Given the description of an element on the screen output the (x, y) to click on. 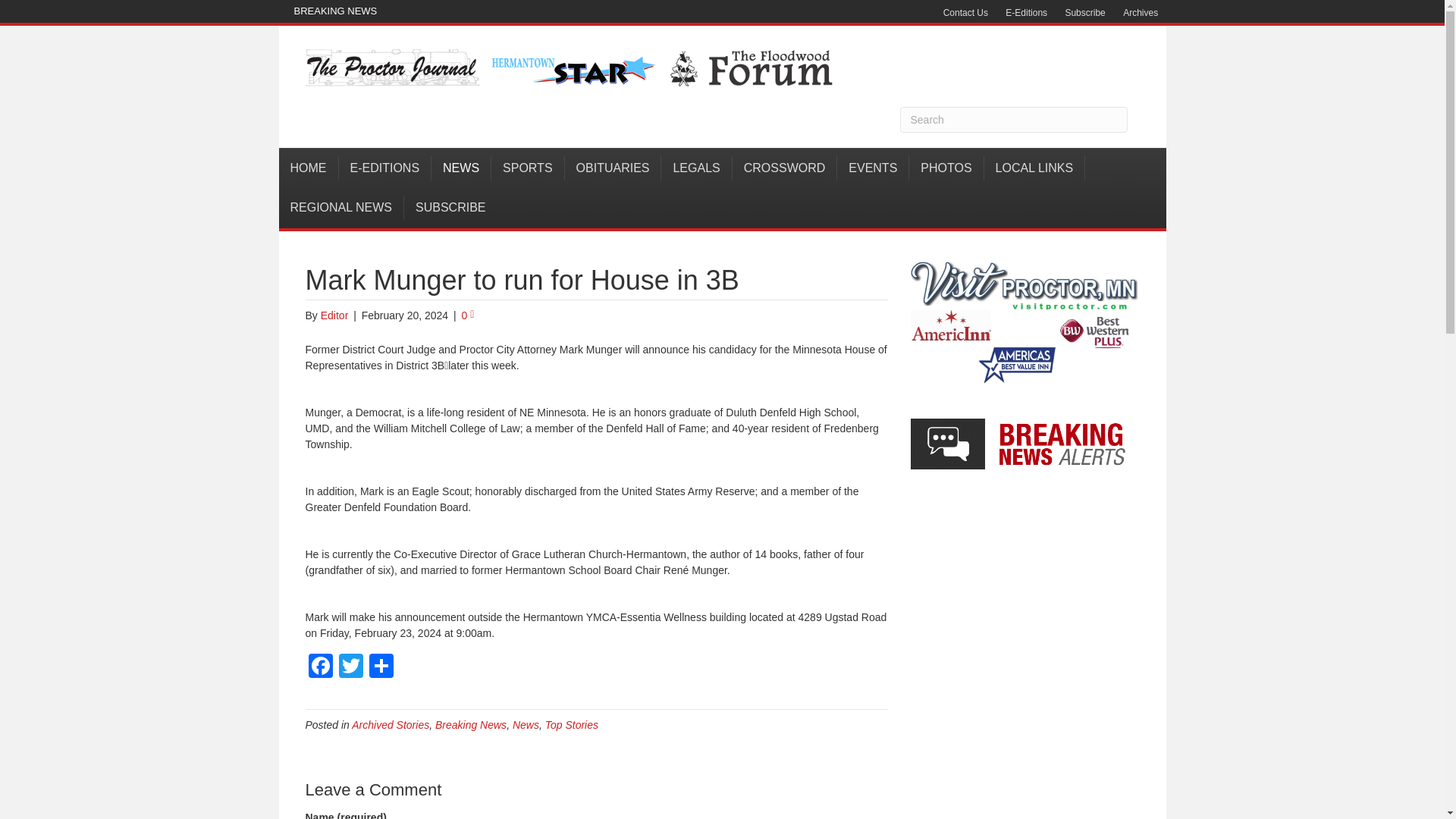
E-EDITIONS (383, 168)
CROSSWORD (785, 168)
LOCAL LINKS (1035, 168)
Type and press Enter to search. (1012, 119)
SPORTS (528, 168)
Facebook (319, 667)
OBITUARIES (613, 168)
HOME (309, 168)
EVENTS (872, 168)
Twitter (349, 667)
Subscribe (1084, 13)
Contact Us (965, 13)
LEGALS (696, 168)
NEWS (461, 168)
Archives (1140, 13)
